Given the description of an element on the screen output the (x, y) to click on. 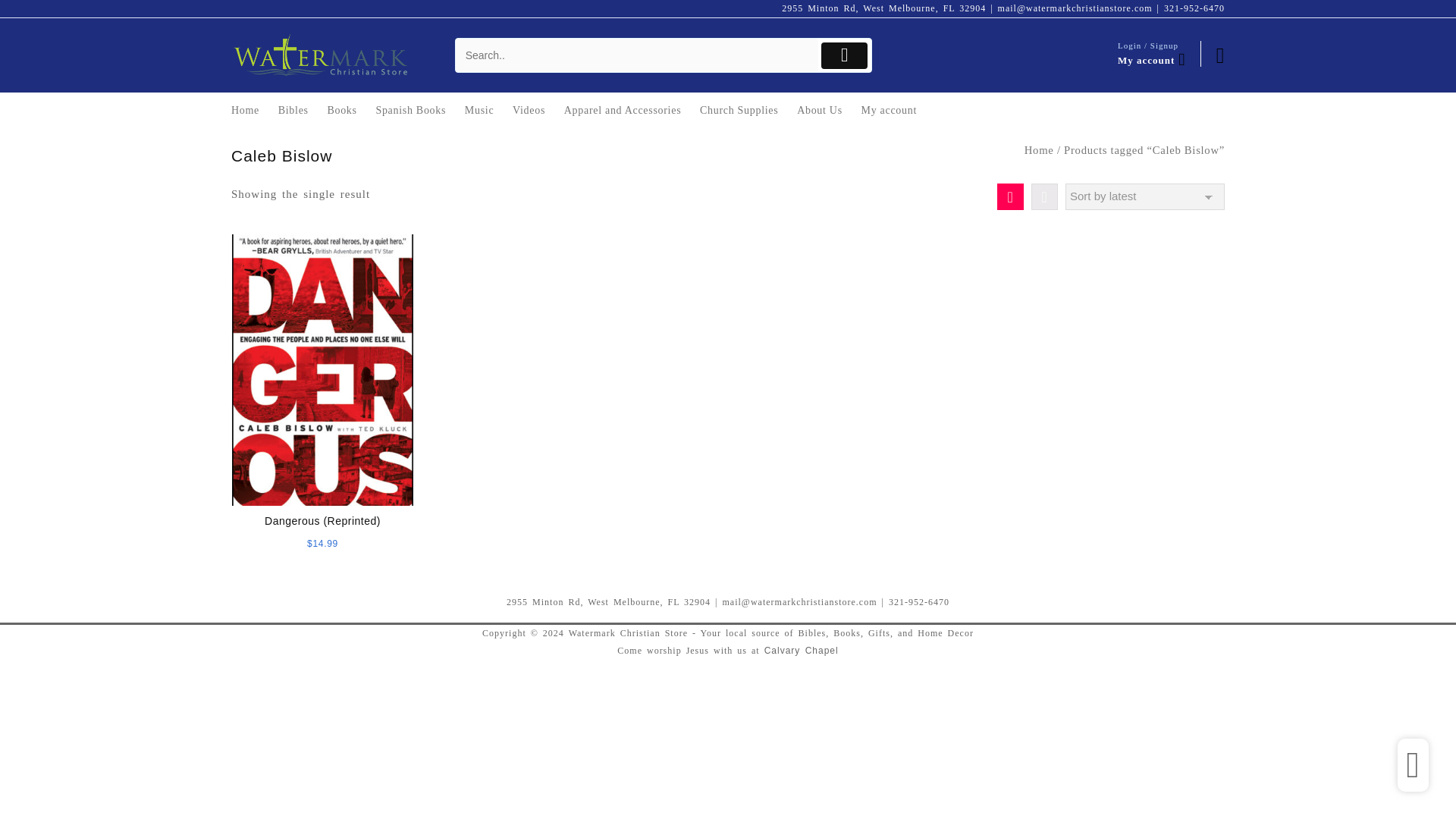
321-952-6470 (1193, 8)
Grid View (1010, 196)
Search (636, 55)
2955 Minton Rd, West Melbourne, FL 32904 (883, 8)
Submit (844, 55)
List View (1044, 196)
